Given the description of an element on the screen output the (x, y) to click on. 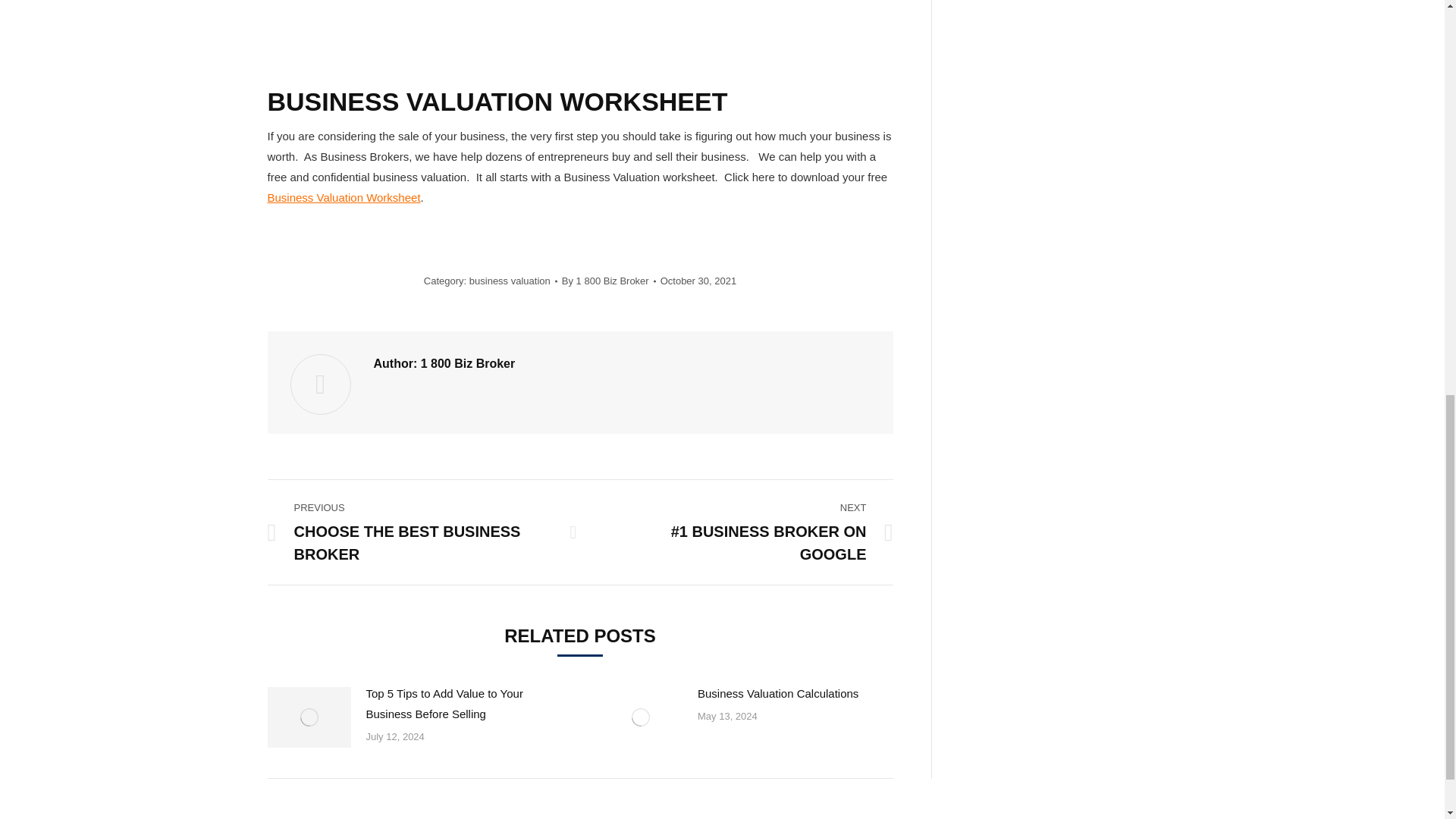
View all posts by 1 800 Biz Broker (609, 280)
8:53 pm (698, 280)
YouTube video player (478, 35)
